Given the description of an element on the screen output the (x, y) to click on. 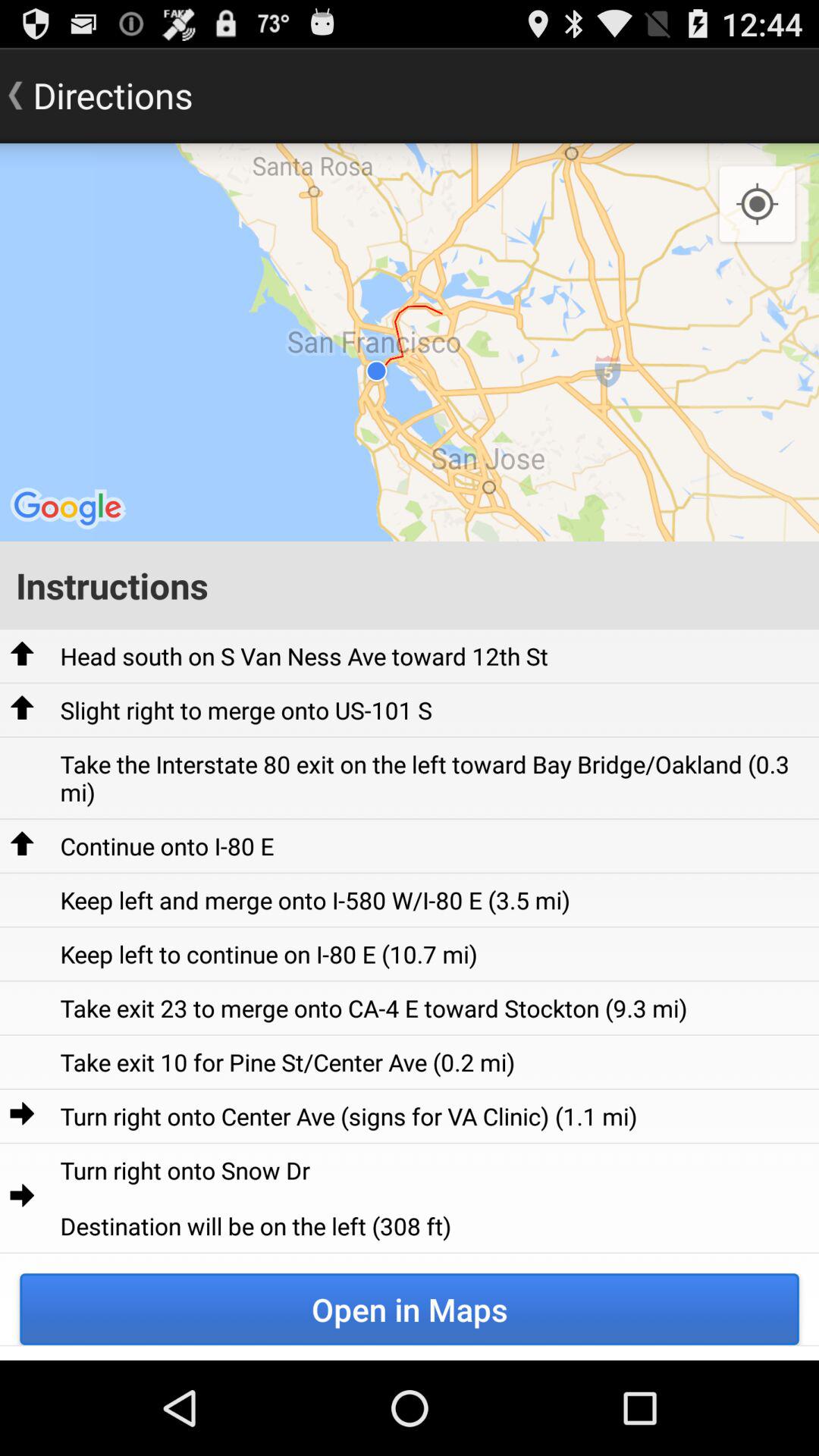
open item below turn right onto icon (409, 1309)
